Given the description of an element on the screen output the (x, y) to click on. 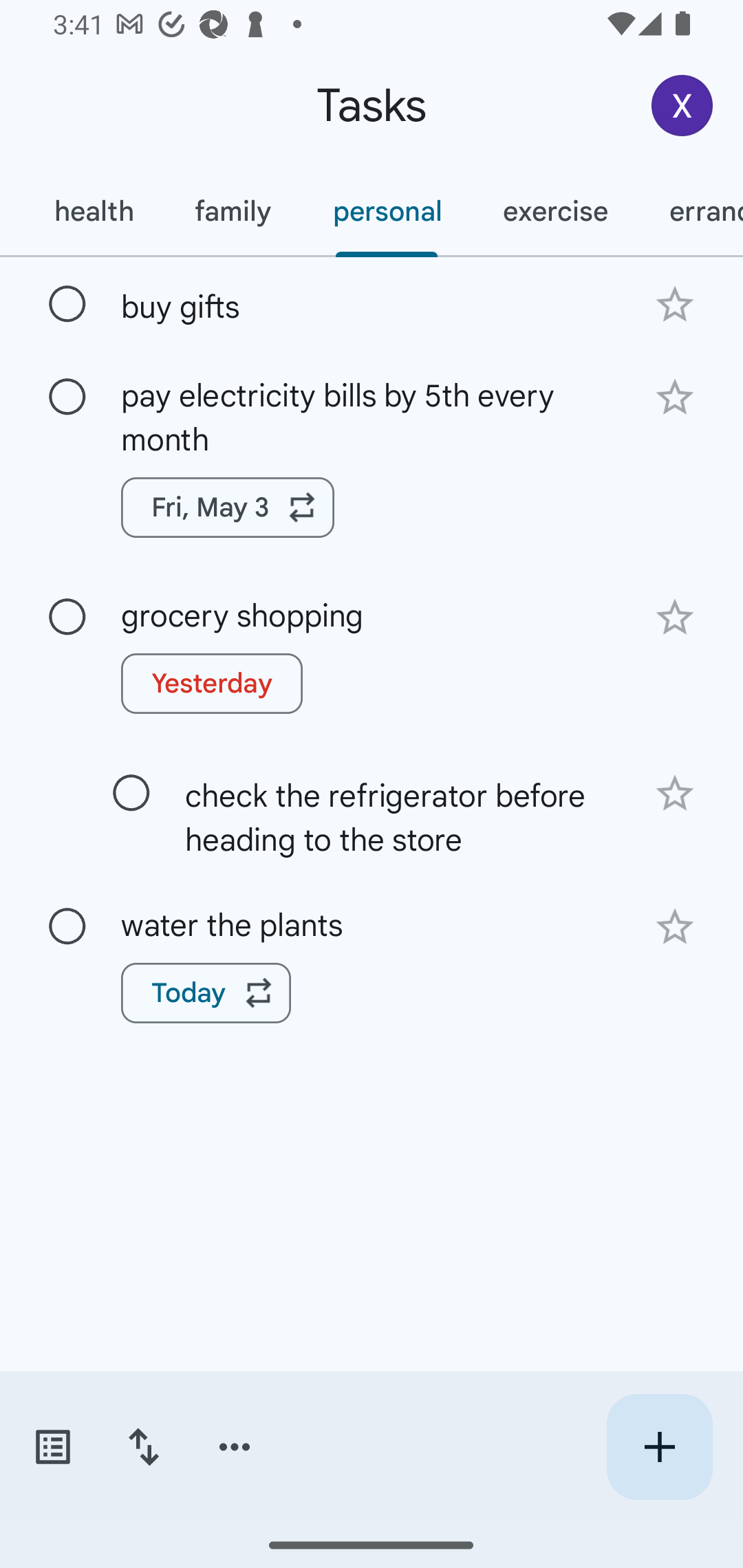
health (93, 211)
family (232, 211)
exercise (554, 211)
errands (690, 211)
buy gifts buy gifts Add star Mark as complete (371, 303)
Add star (674, 303)
Mark as complete (67, 304)
Add star (674, 397)
Mark as complete (67, 397)
Fri, May 3 (227, 507)
Add star (674, 617)
Mark as complete (67, 616)
Yesterday (211, 683)
Add star (674, 792)
Mark as complete (131, 793)
Add star (674, 926)
Mark as complete (67, 927)
Today (206, 992)
Switch task lists (52, 1447)
Create new task (659, 1446)
Change sort order (143, 1446)
More options (234, 1446)
